Given the description of an element on the screen output the (x, y) to click on. 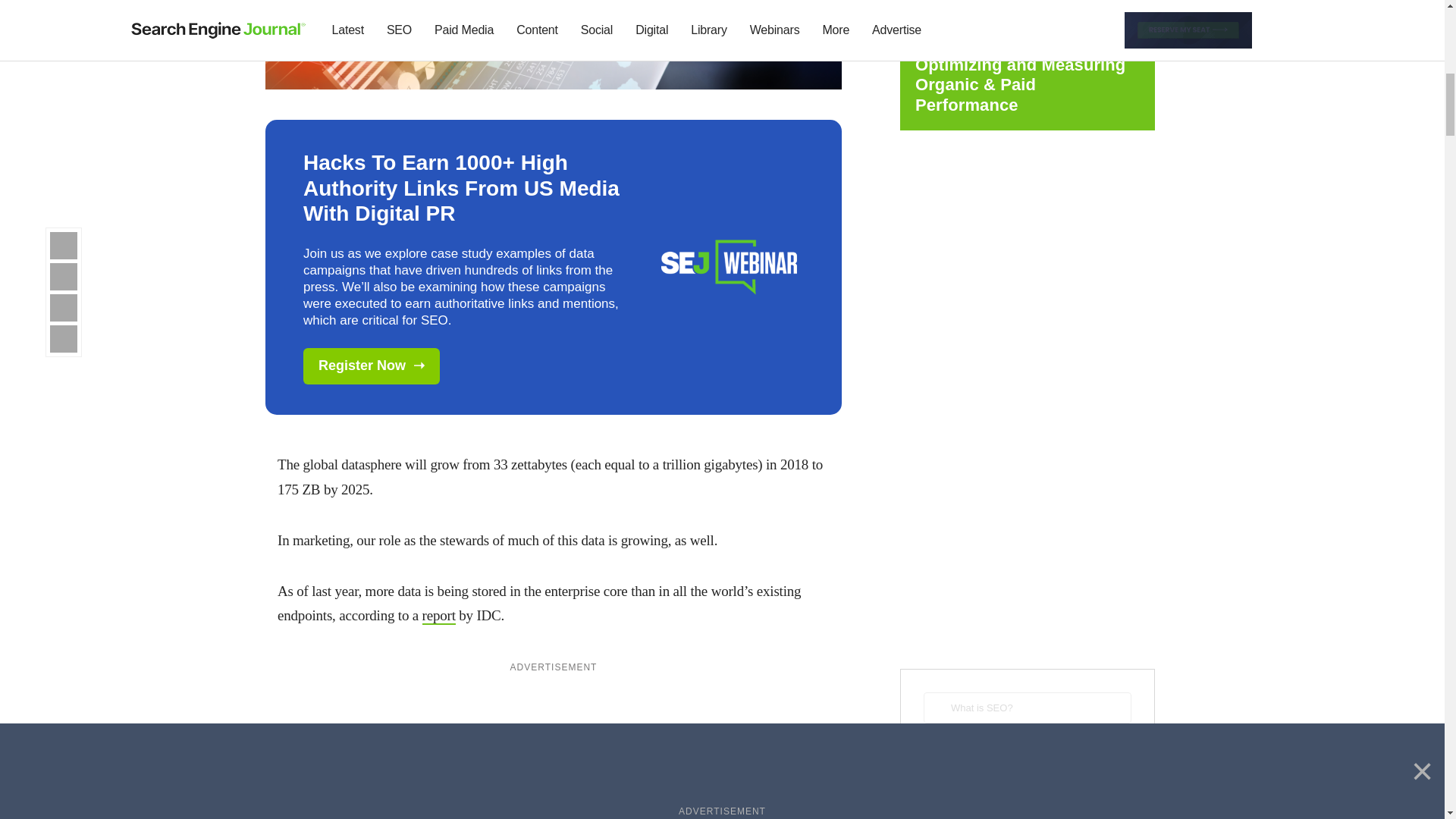
SEARCH (1027, 753)
SEARCH (1027, 753)
